Given the description of an element on the screen output the (x, y) to click on. 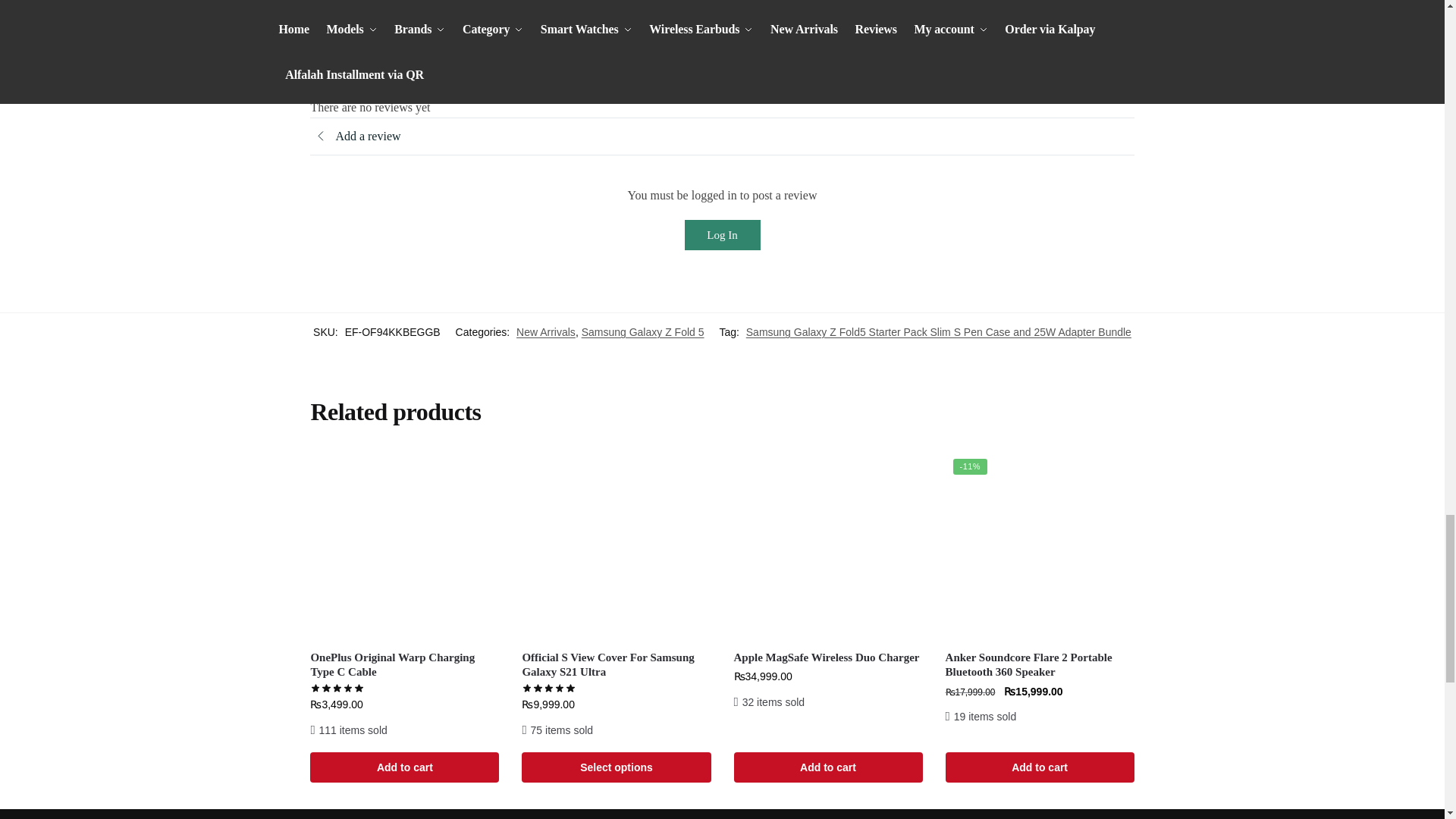
Apple MagSafe Wireless Duo Charger (828, 545)
OnePlus Original Warp Charging Type C Cable (404, 545)
Anker Soundcore Flare 2 Portable Bluetooth 360 Speaker (1039, 545)
Official S View Cover For Samsung Galaxy S21 Ultra (615, 545)
